Given the description of an element on the screen output the (x, y) to click on. 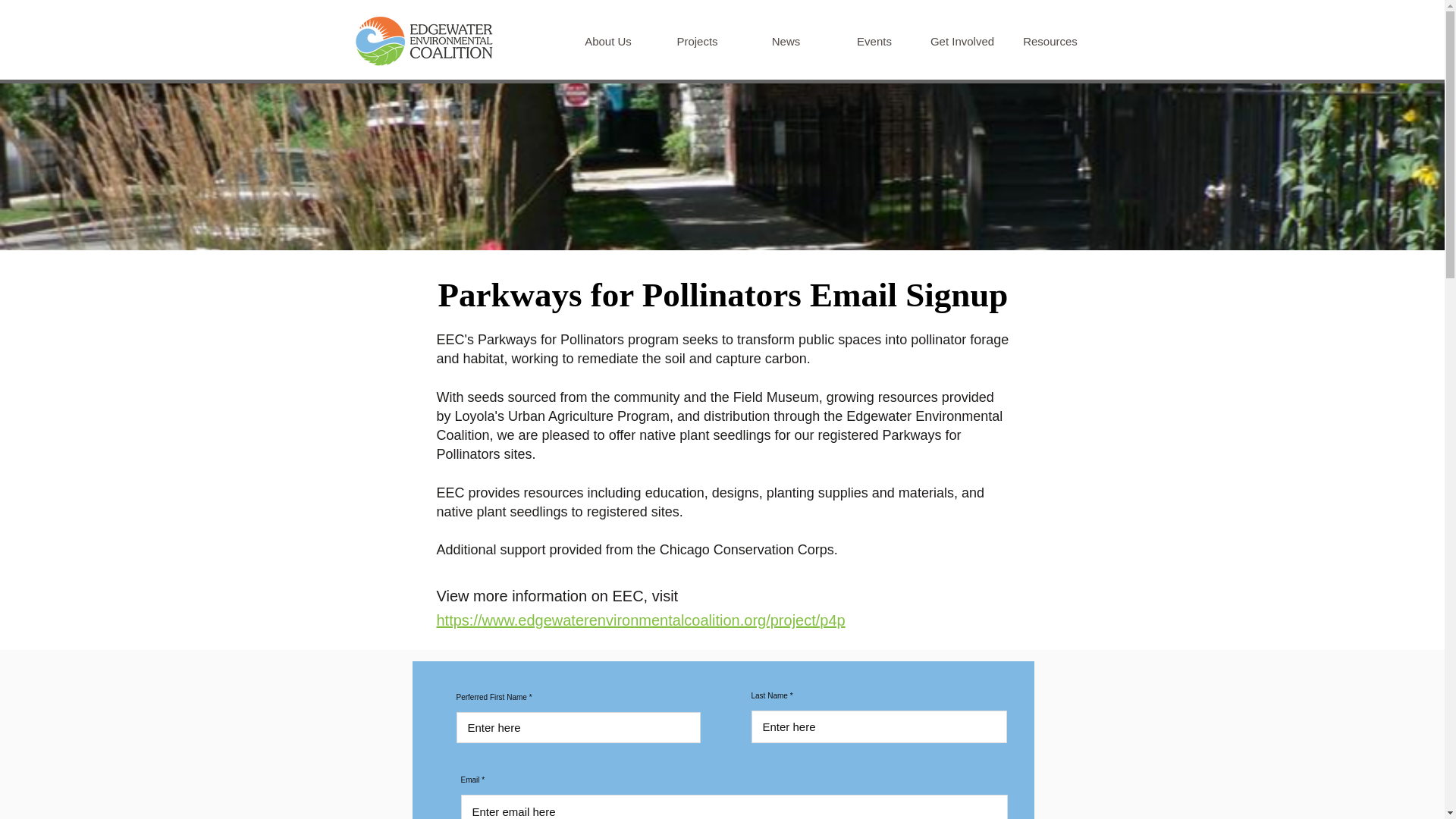
Home (423, 41)
Projects (696, 41)
News (785, 41)
Events (873, 41)
About Us (608, 41)
Get Involved (961, 41)
Resources (1049, 41)
